Given the description of an element on the screen output the (x, y) to click on. 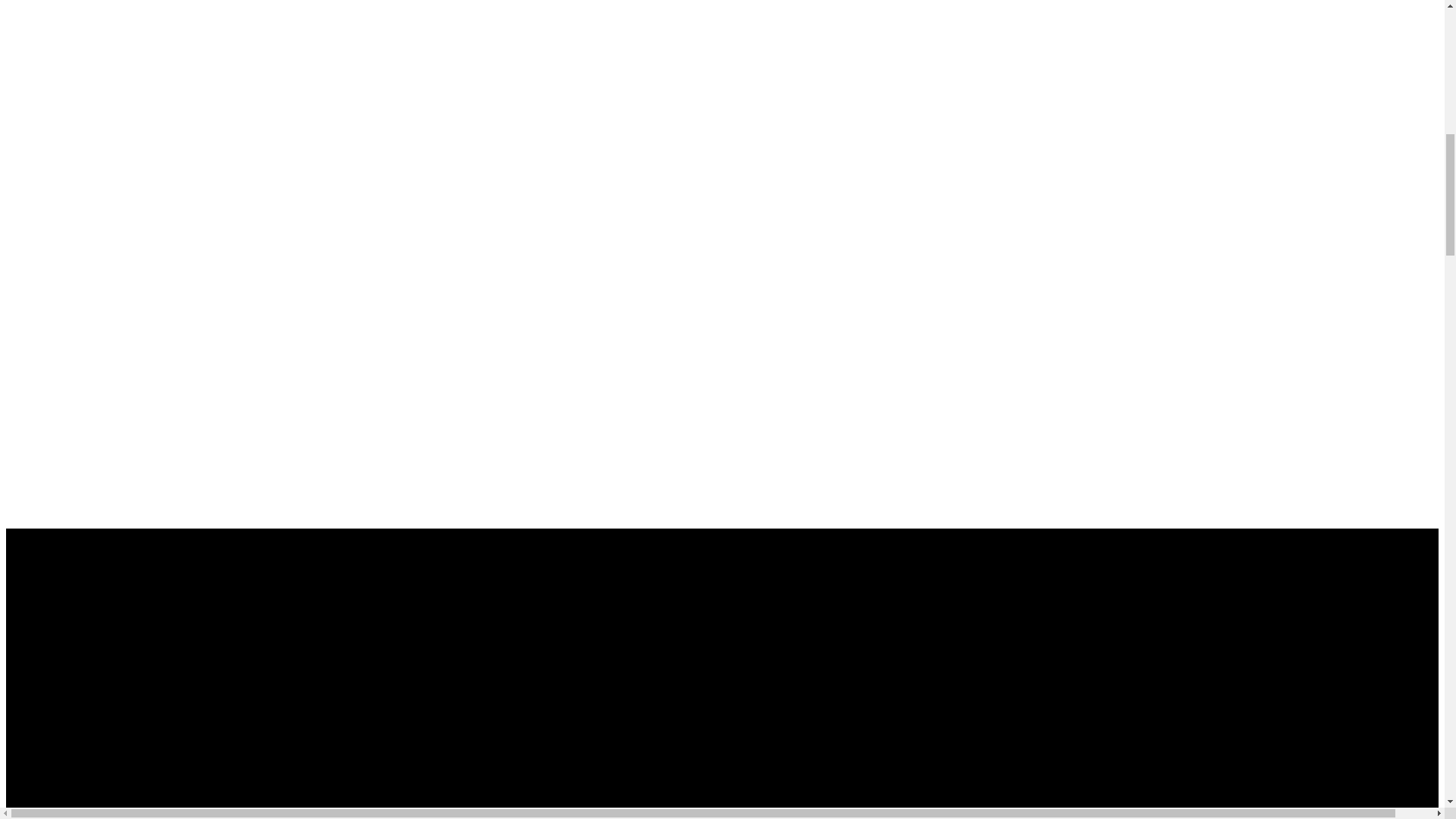
Login (24, 595)
Send My Password (54, 797)
Register (30, 711)
